Given the description of an element on the screen output the (x, y) to click on. 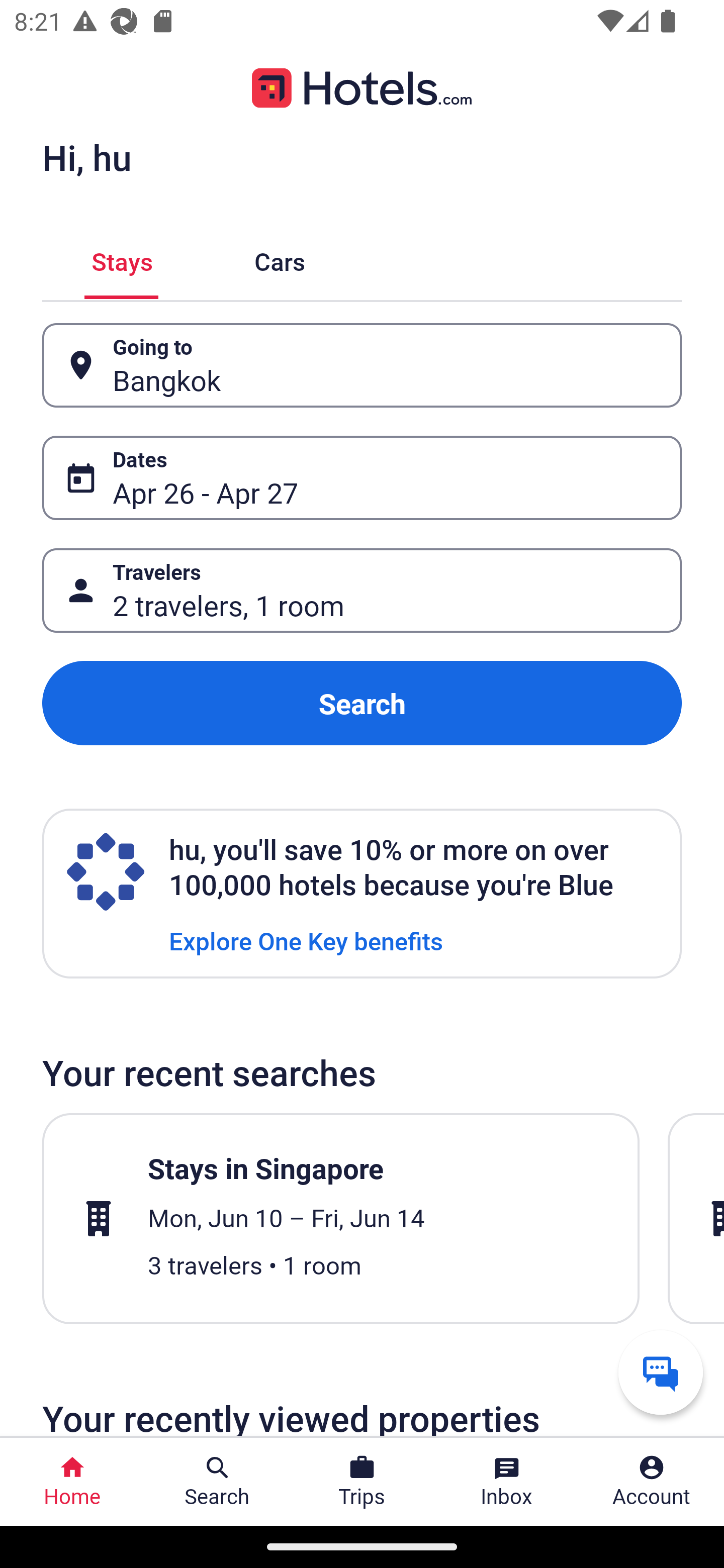
Hi, hu (86, 156)
Cars (279, 259)
Going to Button Bangkok (361, 365)
Dates Button Apr 26 - Apr 27 (361, 477)
Travelers Button 2 travelers, 1 room (361, 590)
Search (361, 702)
Get help from a virtual agent (660, 1371)
Search Search Button (216, 1481)
Trips Trips Button (361, 1481)
Inbox Inbox Button (506, 1481)
Account Profile. Button (651, 1481)
